Given the description of an element on the screen output the (x, y) to click on. 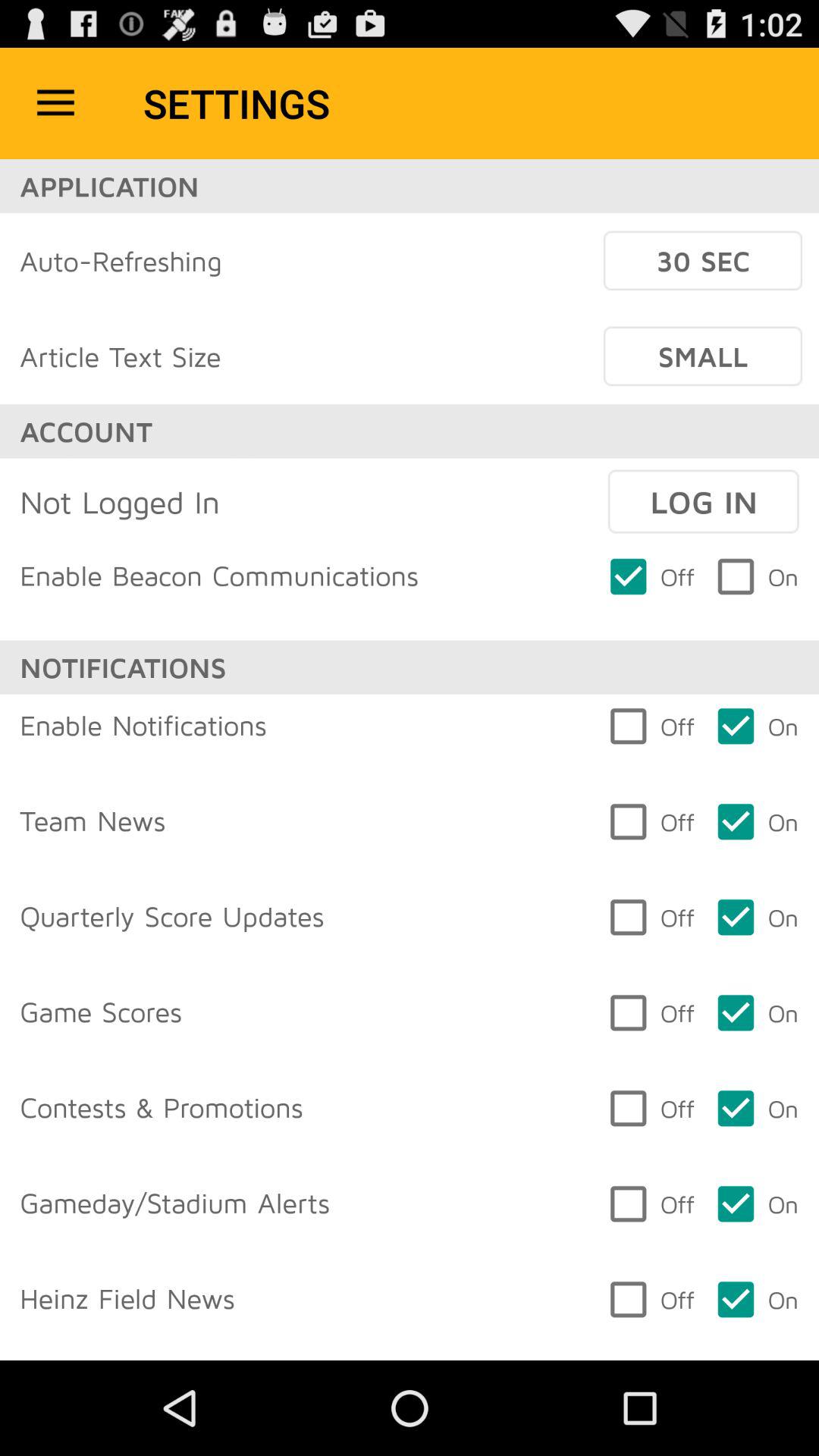
turn on icon above the application (55, 103)
